Given the description of an element on the screen output the (x, y) to click on. 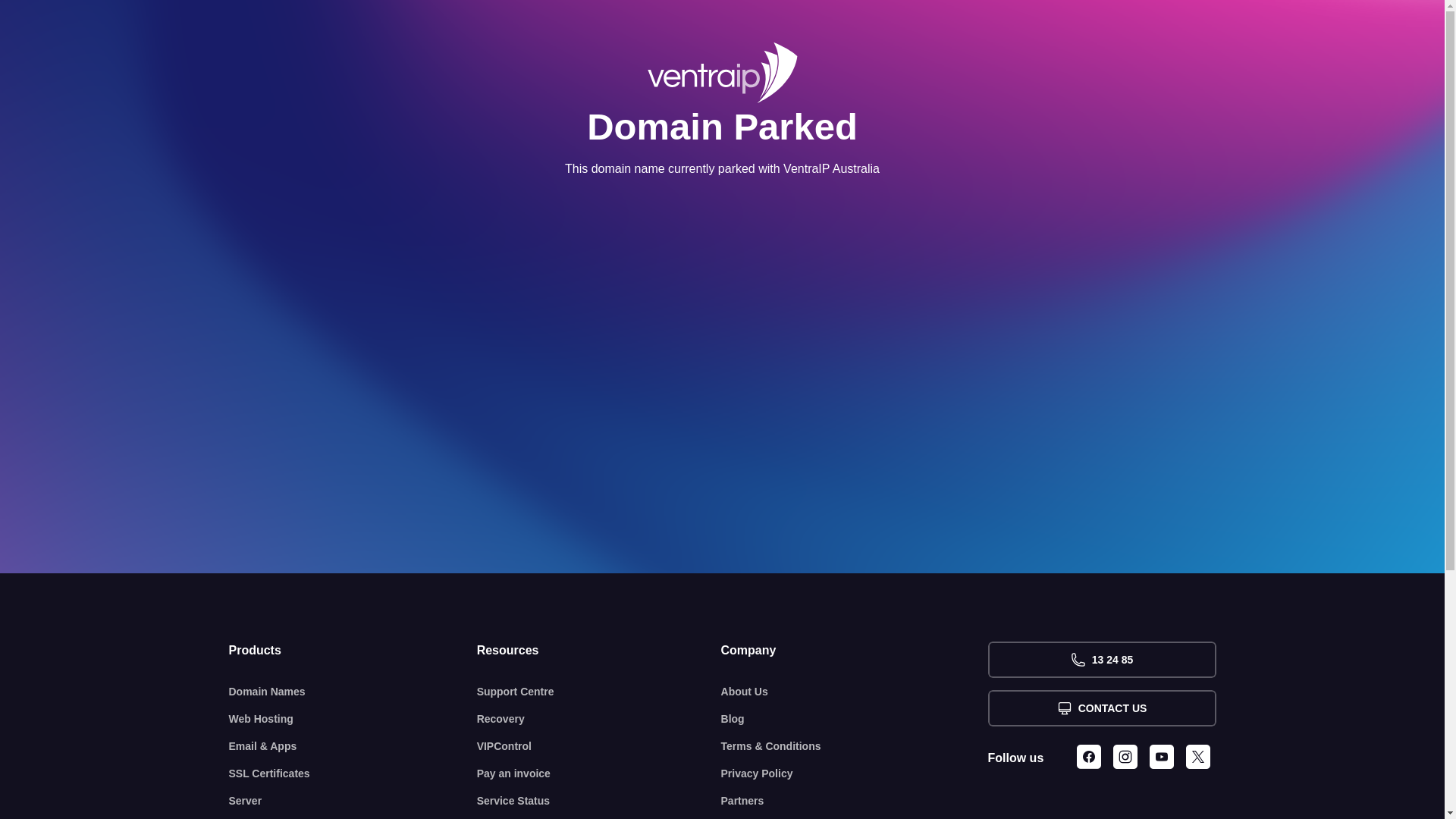
SSL Certificates Element type: text (352, 773)
VIPControl Element type: text (598, 745)
Terms & Conditions Element type: text (854, 745)
Blog Element type: text (854, 718)
Partners Element type: text (854, 800)
Domain Names Element type: text (352, 691)
Recovery Element type: text (598, 718)
About Us Element type: text (854, 691)
Privacy Policy Element type: text (854, 773)
Service Status Element type: text (598, 800)
Pay an invoice Element type: text (598, 773)
Server Element type: text (352, 800)
CONTACT US Element type: text (1101, 708)
Support Centre Element type: text (598, 691)
13 24 85 Element type: text (1101, 659)
Web Hosting Element type: text (352, 718)
Email & Apps Element type: text (352, 745)
